Given the description of an element on the screen output the (x, y) to click on. 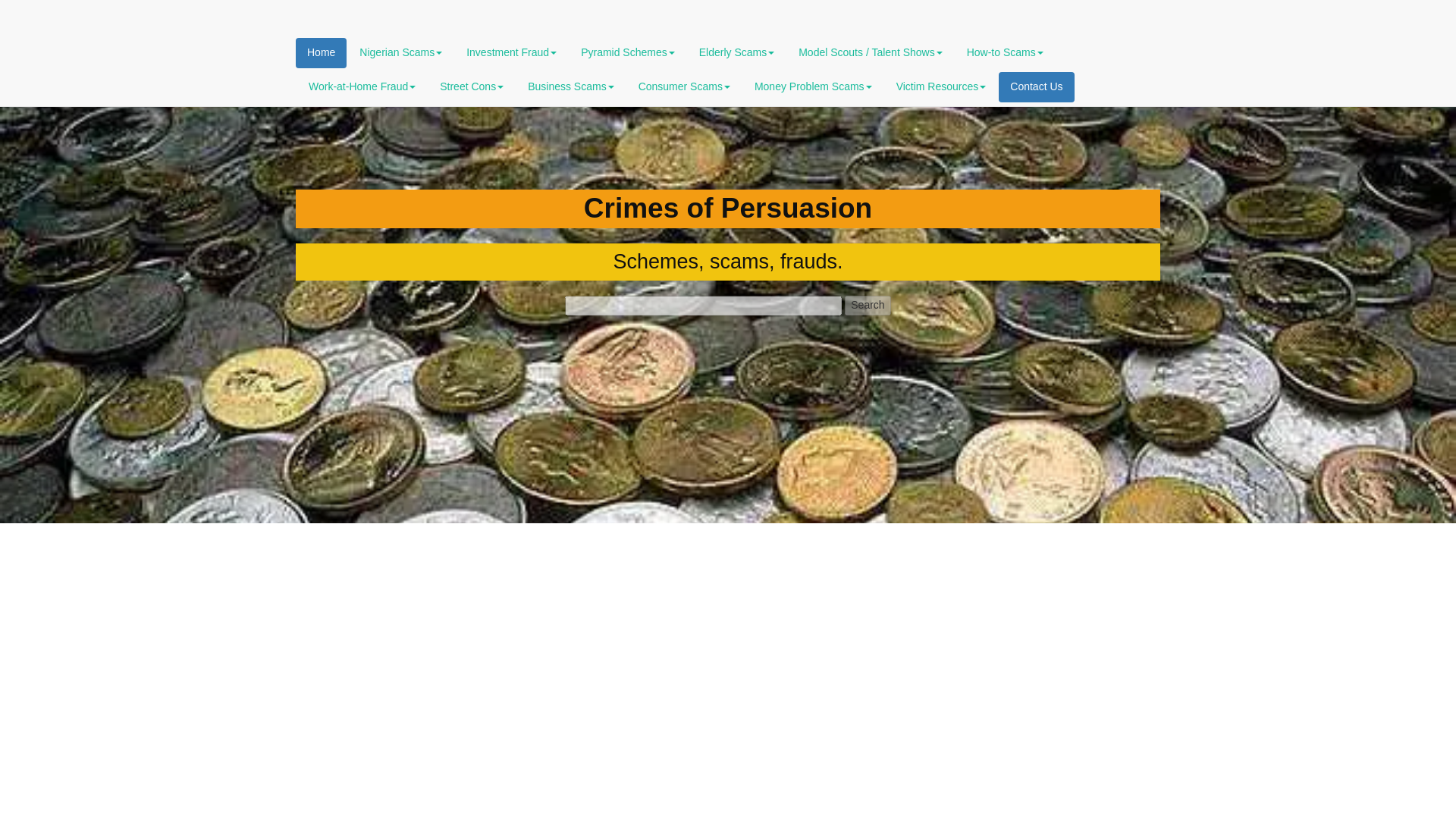
Search (866, 305)
Elderly Scams (736, 52)
Pyramid Schemes (627, 52)
Investment Fraud (510, 52)
Nigerian Scams (399, 52)
Home (320, 52)
